Given the description of an element on the screen output the (x, y) to click on. 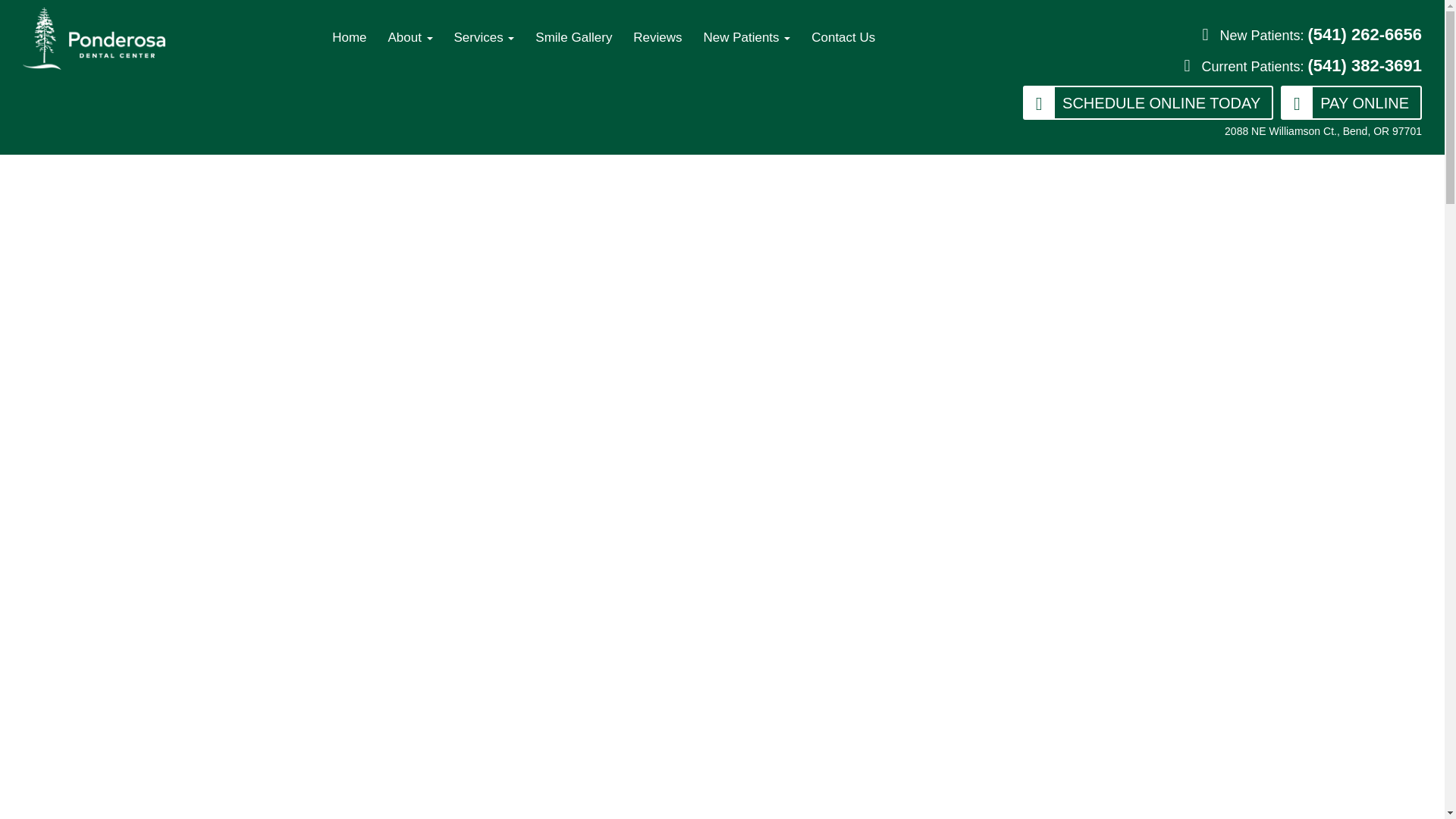
Ponderosa Dental Center (94, 38)
About (409, 37)
Home (349, 37)
Services (483, 37)
